Given the description of an element on the screen output the (x, y) to click on. 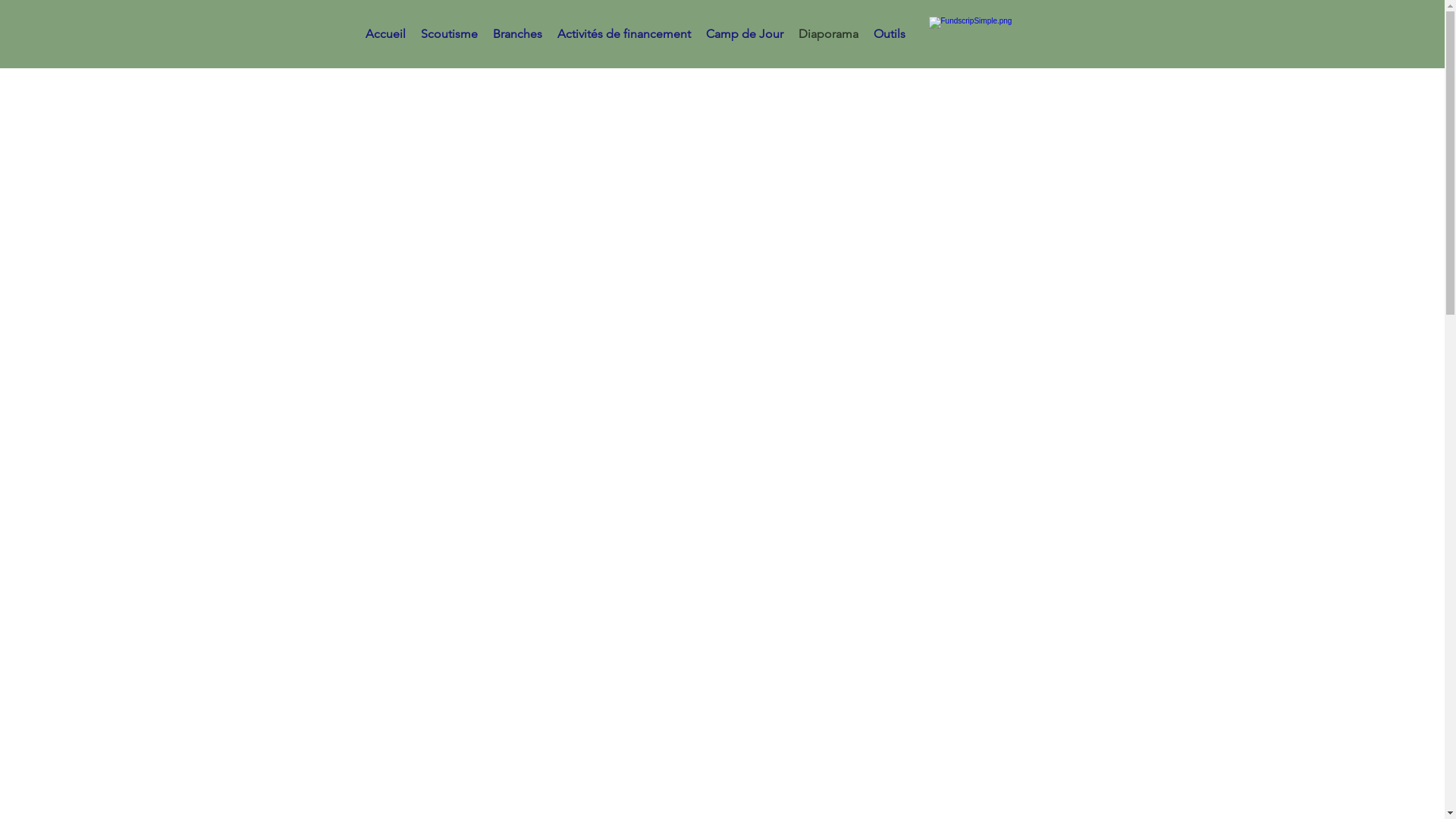
Scoutisme Element type: text (449, 34)
Accueil Element type: text (385, 34)
Diaporama Element type: text (828, 34)
Outils Element type: text (889, 34)
Branches Element type: text (517, 34)
Achetez de cartes cadeaux pour encourager notre groupe Element type: hover (1010, 38)
Camp de Jour Element type: text (744, 34)
